Given the description of an element on the screen output the (x, y) to click on. 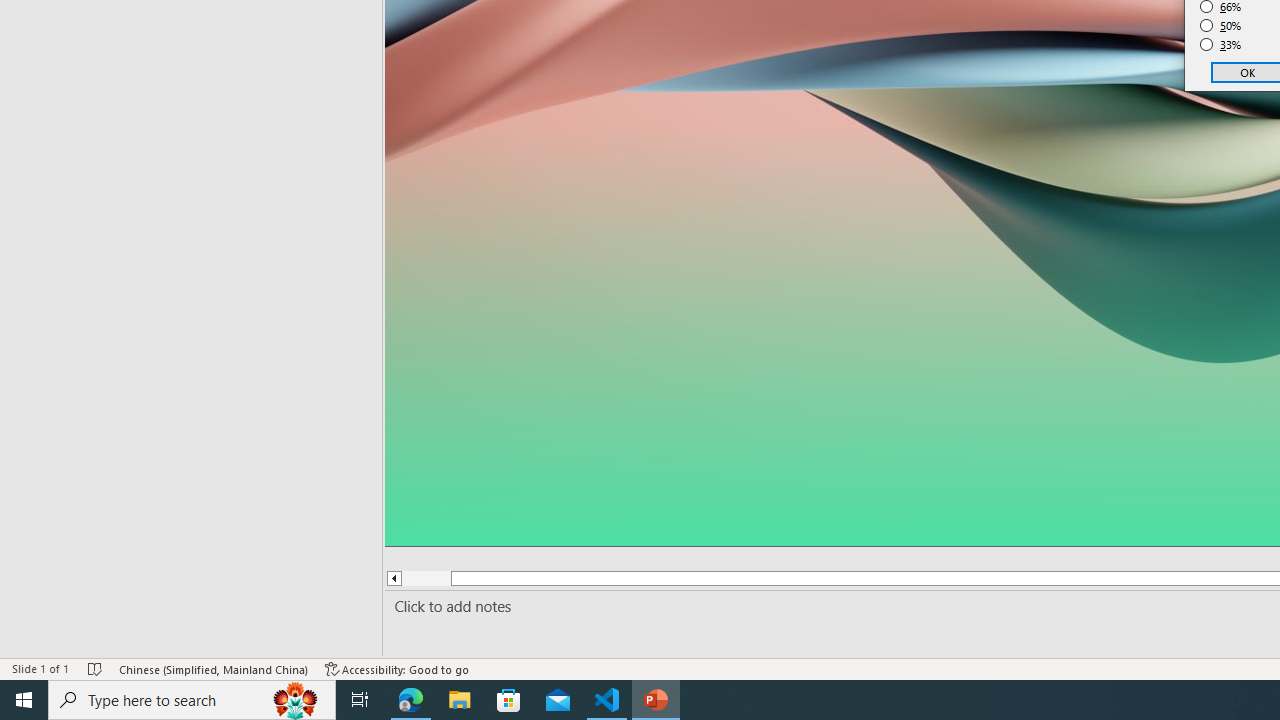
50% (1221, 25)
